Given the description of an element on the screen output the (x, y) to click on. 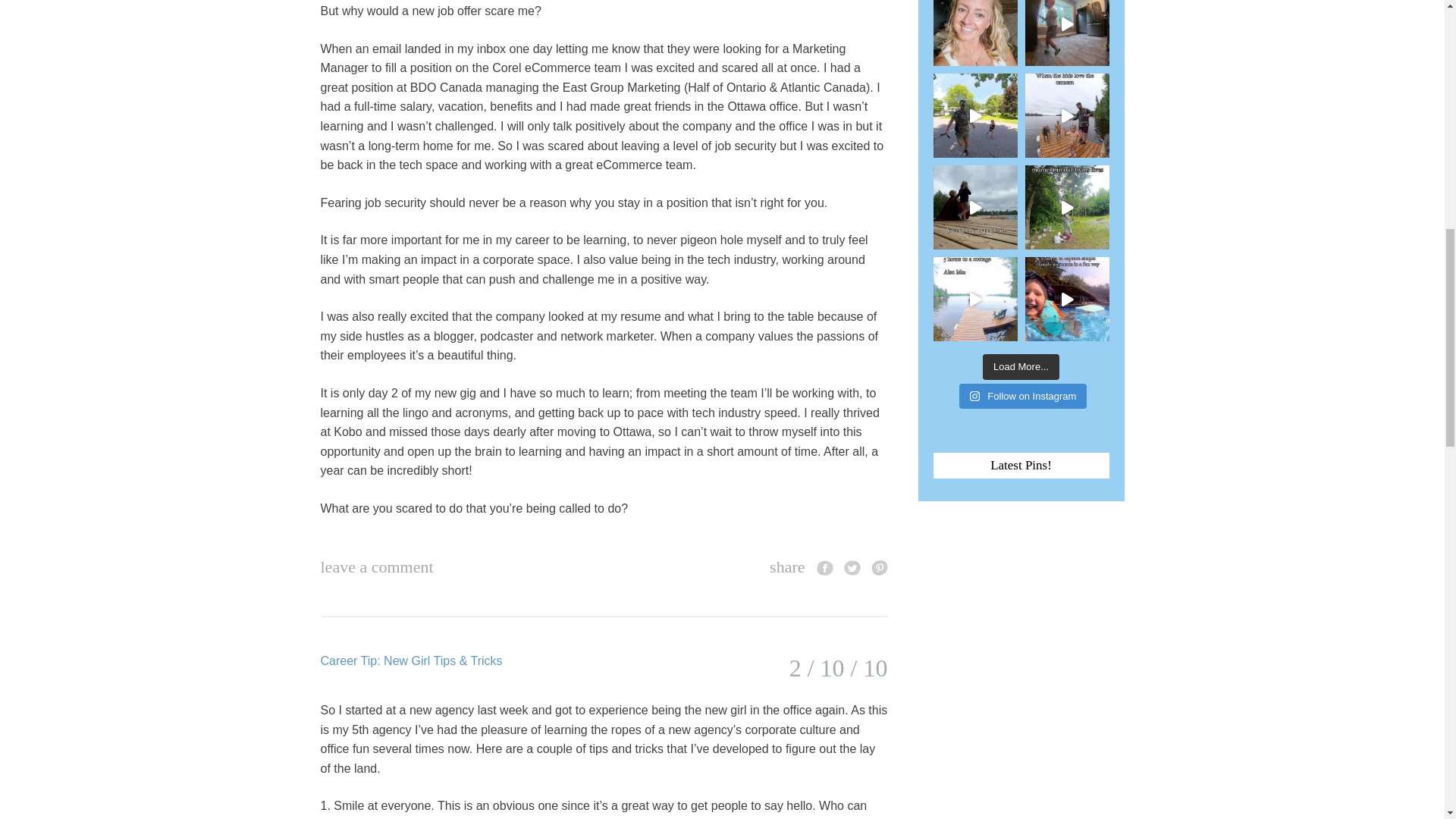
leave a comment (376, 566)
